Given the description of an element on the screen output the (x, y) to click on. 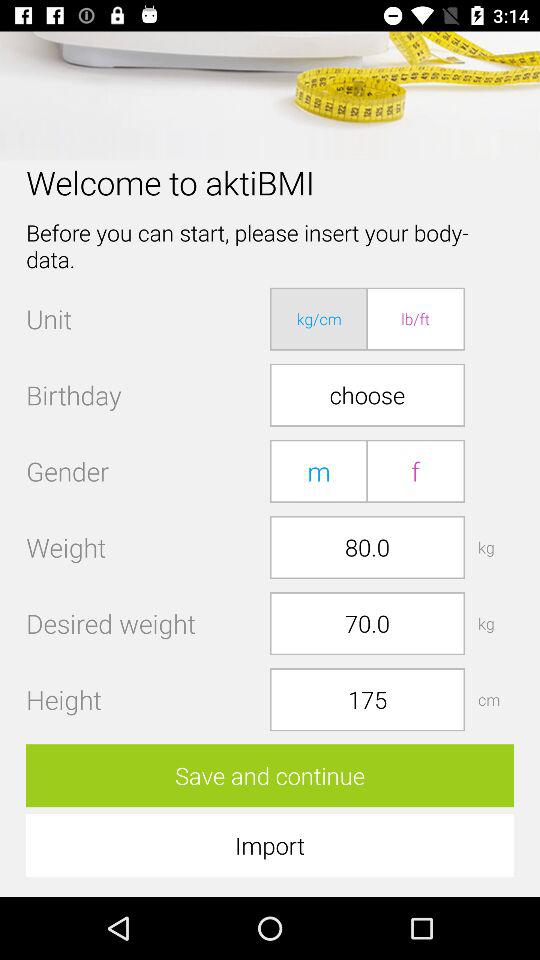
tap the icon below choose icon (415, 470)
